Given the description of an element on the screen output the (x, y) to click on. 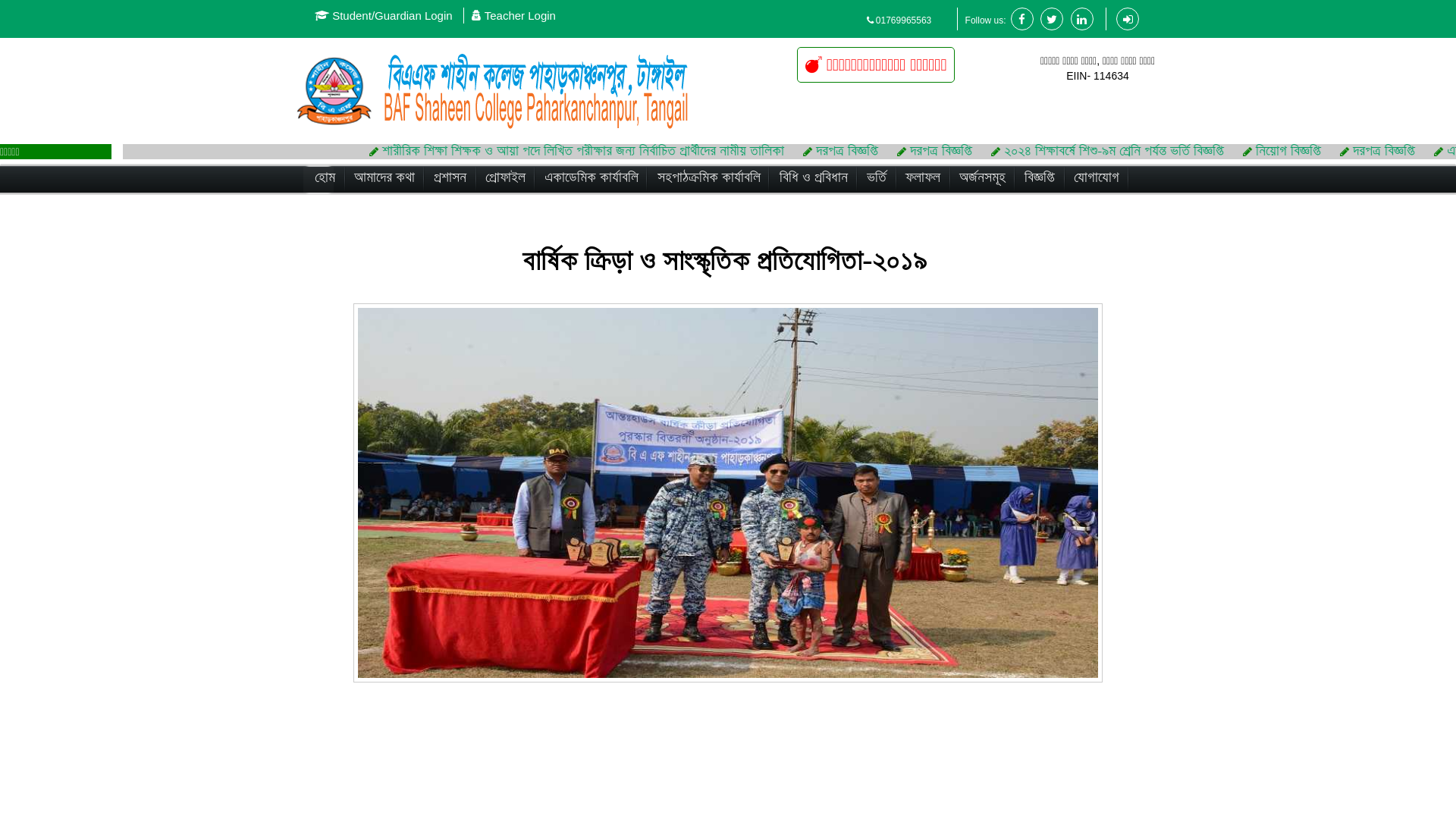
Facebook Element type: hover (1021, 20)
Student/Guardian Login Element type: text (383, 15)
Teacher Login Element type: text (513, 15)
Linkedin Element type: hover (1081, 20)
Twitter Element type: hover (1051, 20)
Login Element type: hover (1127, 20)
